Given the description of an element on the screen output the (x, y) to click on. 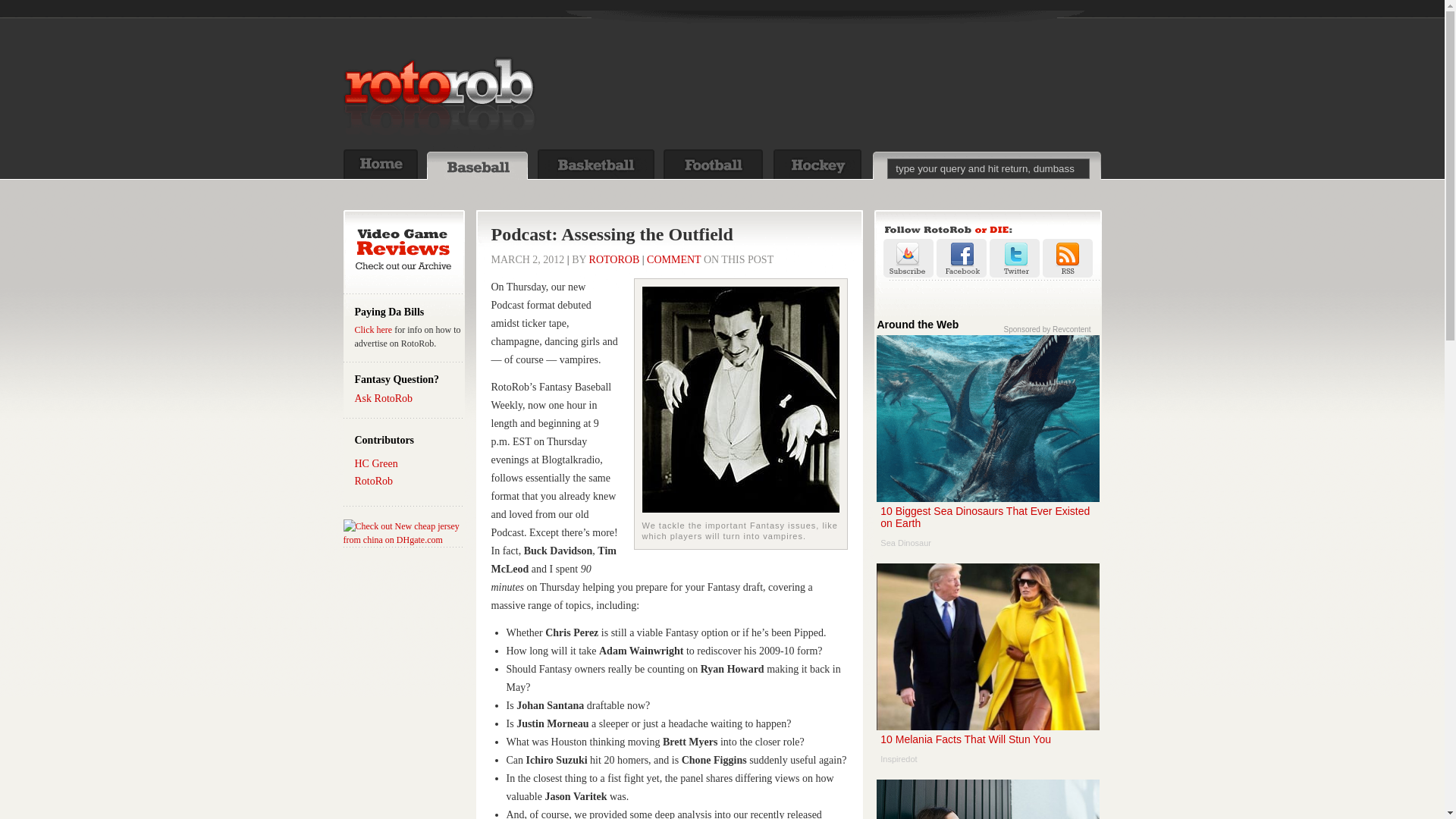
10 Biggest Sea Dinosaurs That Ever Existed on Earth (987, 446)
RotoRob (374, 480)
ROTOROB (614, 259)
View all posts by RotoRob (614, 259)
Stock Trading Made Easy with Etrade (987, 799)
Ask RotoRob (384, 398)
COMMENT (673, 259)
10 Melania Facts That Will Stun You (987, 668)
Click here (374, 329)
type your query and hit return, dumbass (987, 168)
